Given the description of an element on the screen output the (x, y) to click on. 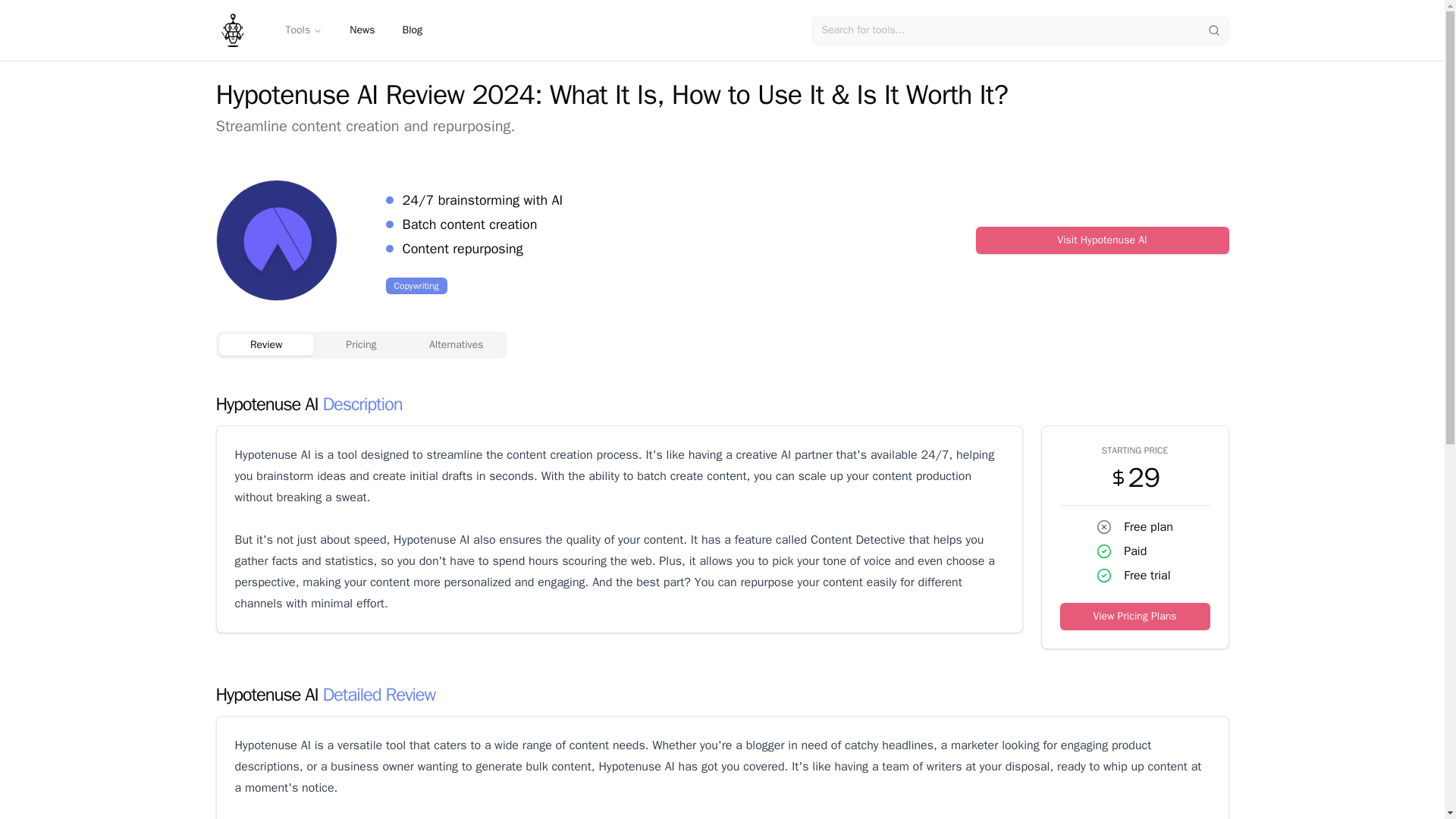
Pricing (361, 344)
Alternatives (456, 344)
Blog (411, 30)
Copywriting (415, 285)
News (362, 30)
View Pricing Plans (1134, 615)
Tools (303, 30)
Review (265, 344)
Visit Hypotenuse AI (1101, 239)
